Given the description of an element on the screen output the (x, y) to click on. 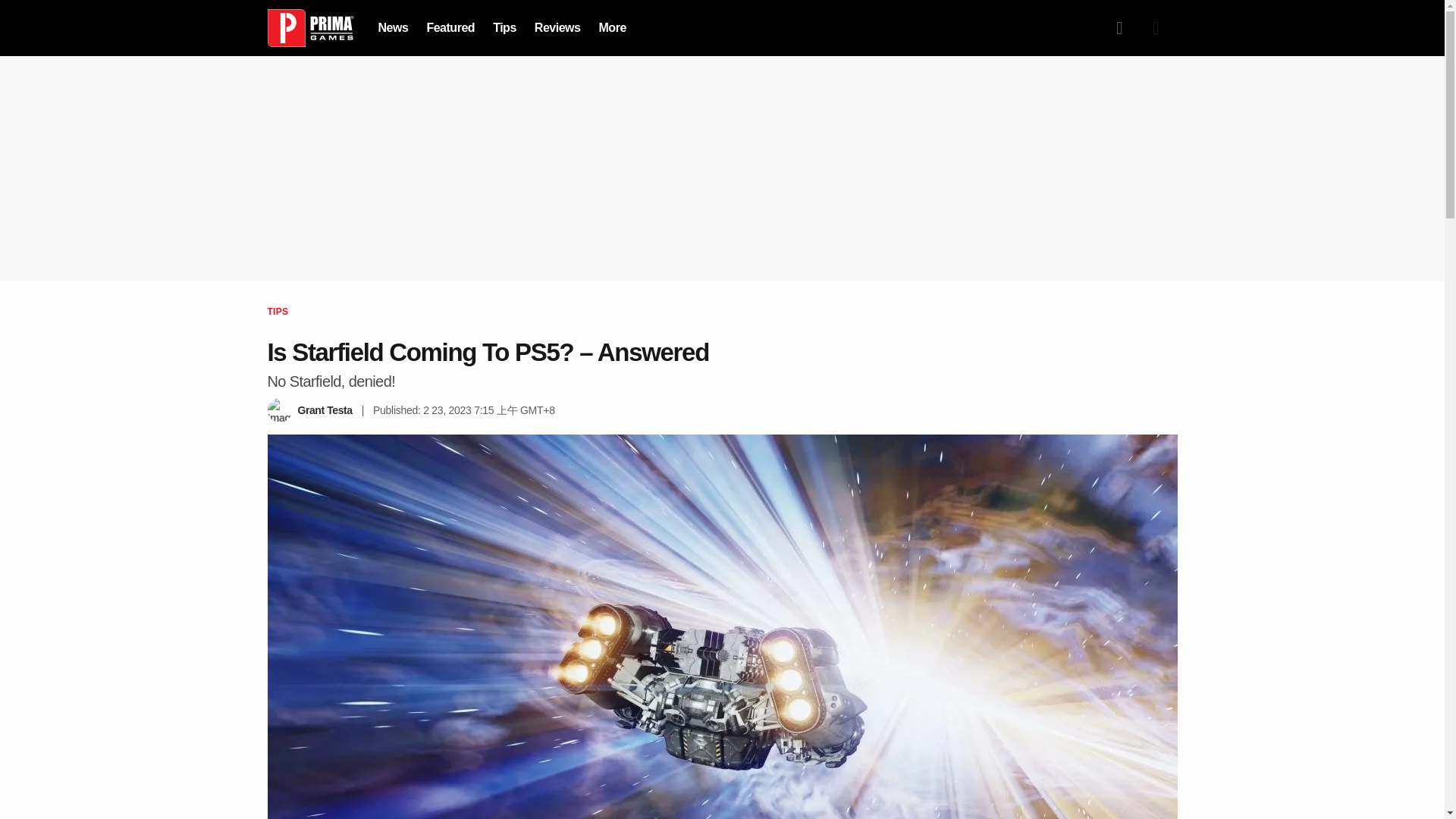
Reviews (557, 27)
Tips (504, 27)
Search (1118, 28)
Featured (450, 27)
News (392, 27)
Dark Mode (1155, 28)
